Given the description of an element on the screen output the (x, y) to click on. 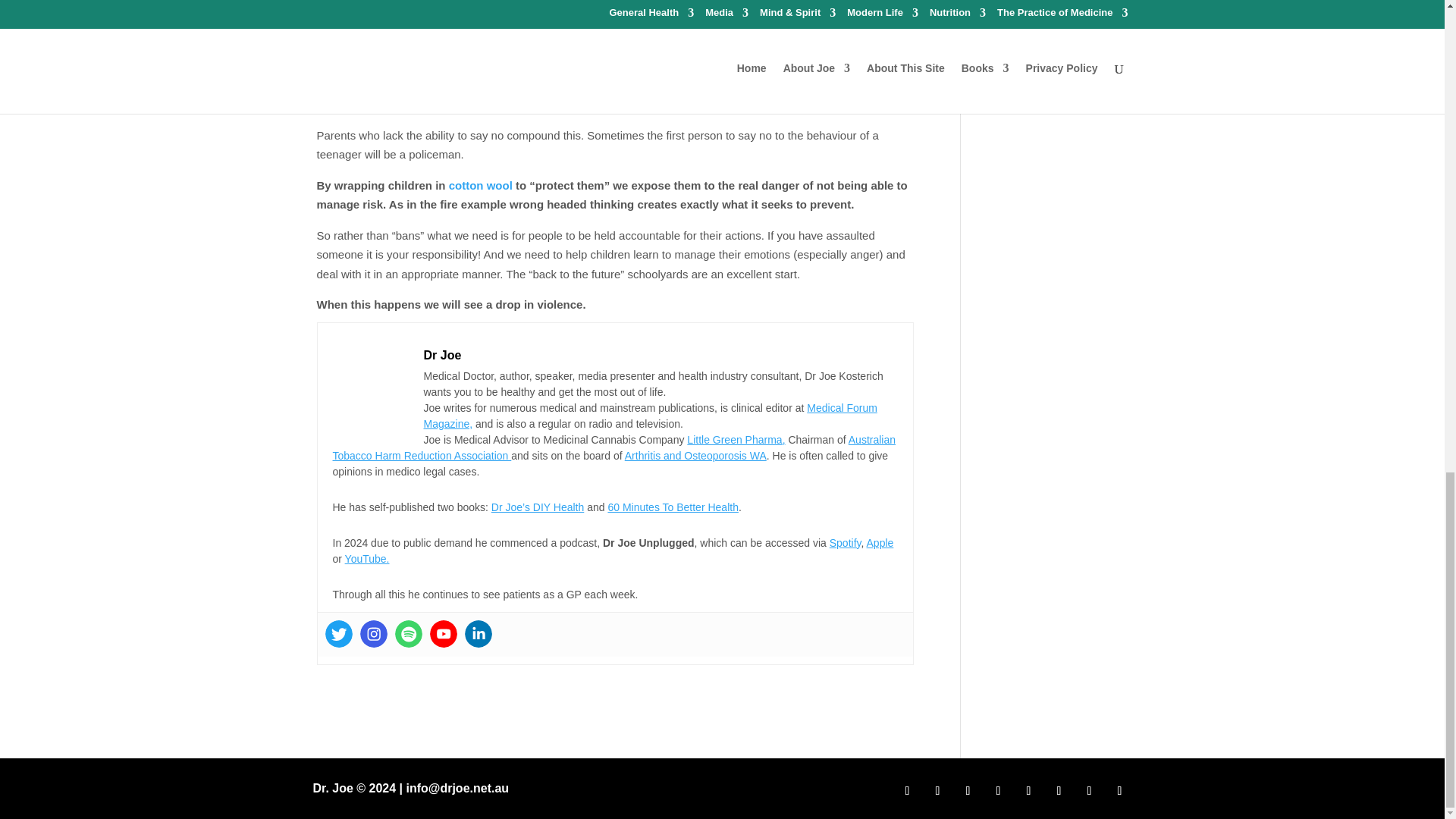
Twitter (338, 633)
Spotify (408, 633)
Youtube (443, 633)
Instagram (373, 633)
Linkedin (478, 633)
